Given the description of an element on the screen output the (x, y) to click on. 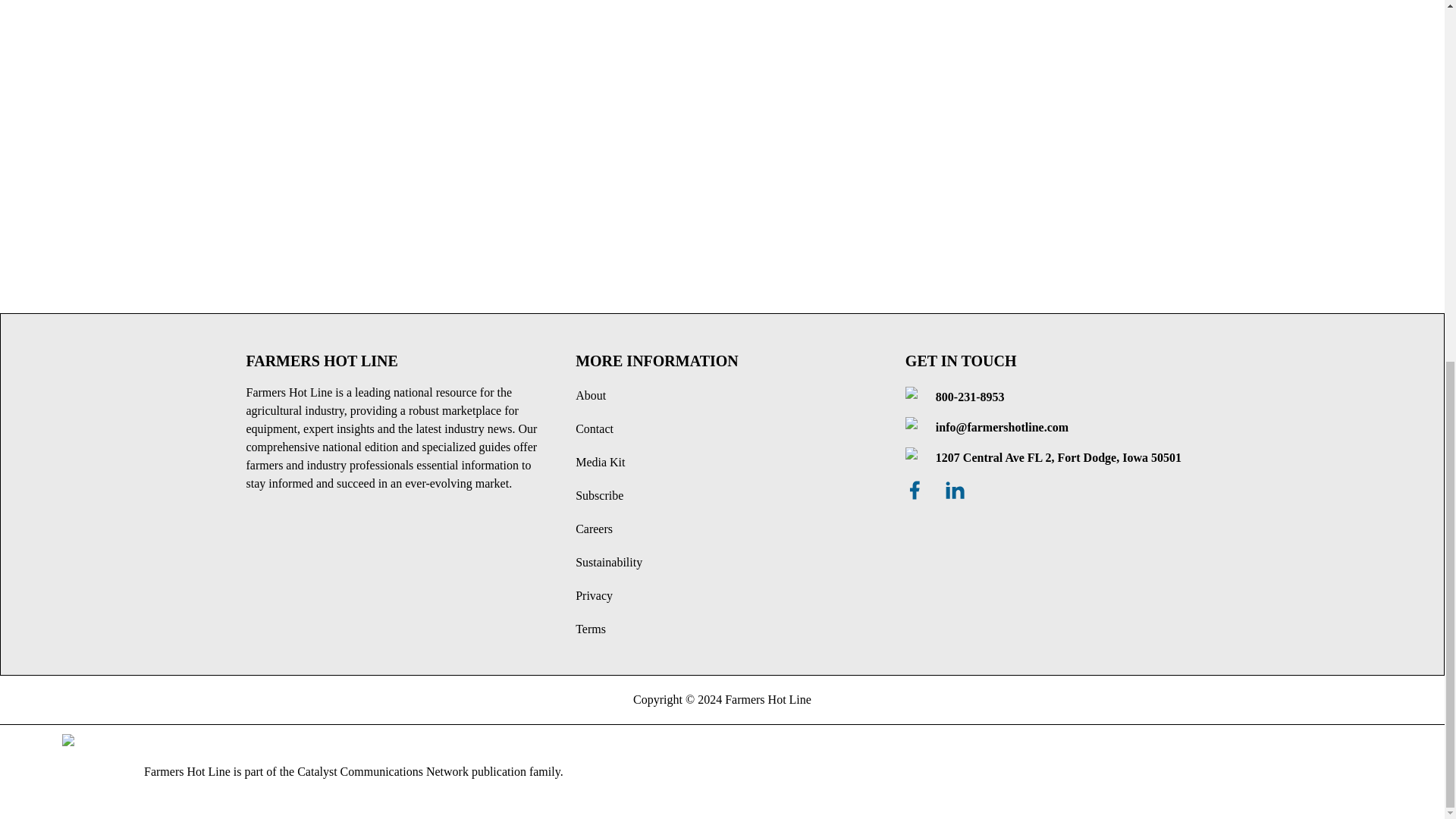
Privacy (593, 594)
Terms (590, 628)
Sustainability (608, 562)
Contact (593, 428)
About (590, 395)
Catalyst Communications Network (382, 771)
Subscribe (599, 495)
800-231-8953 (970, 396)
Careers (593, 528)
Media Kit (599, 461)
